Given the description of an element on the screen output the (x, y) to click on. 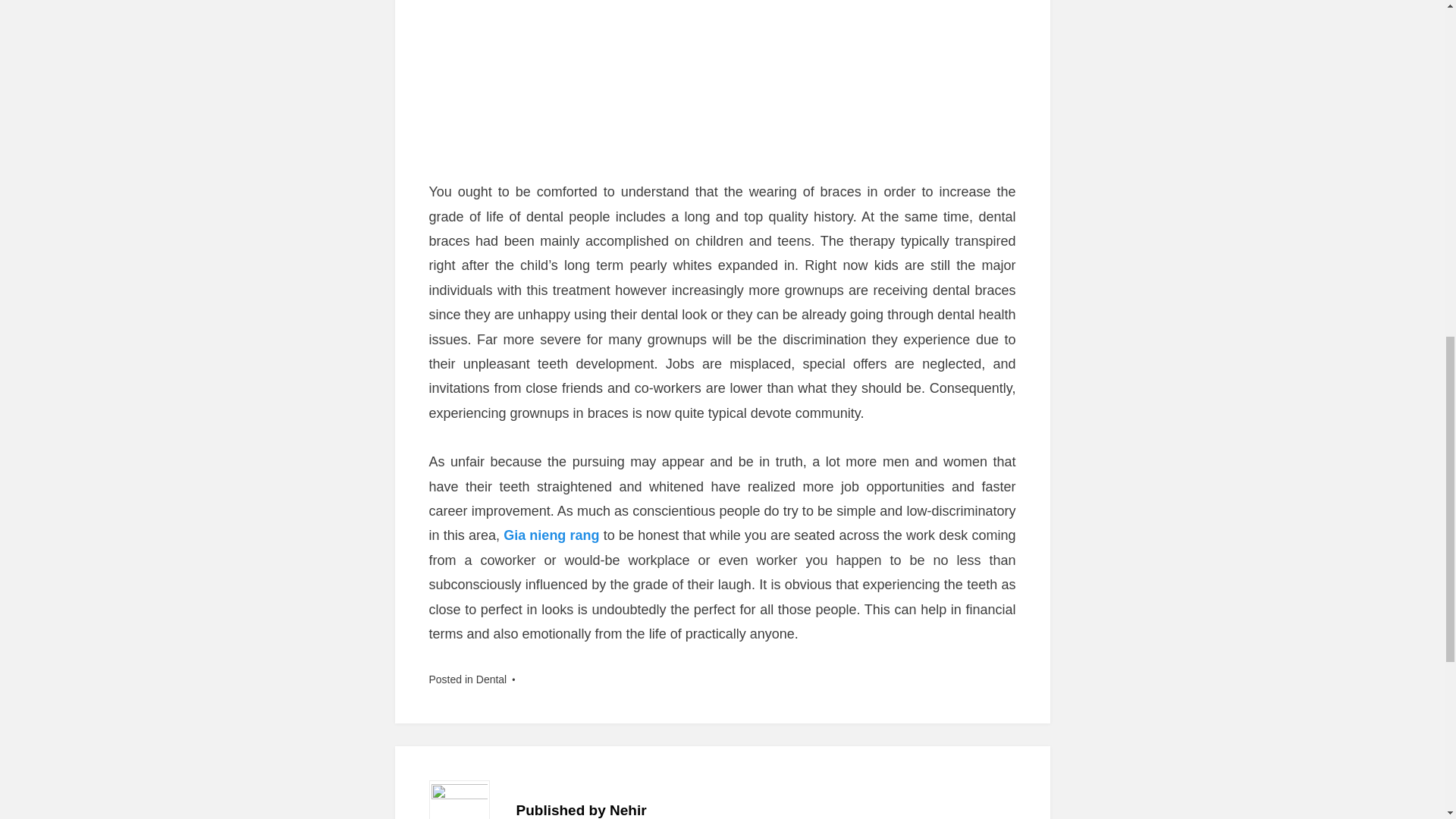
Dental (491, 679)
Gia nieng rang (550, 534)
